Given the description of an element on the screen output the (x, y) to click on. 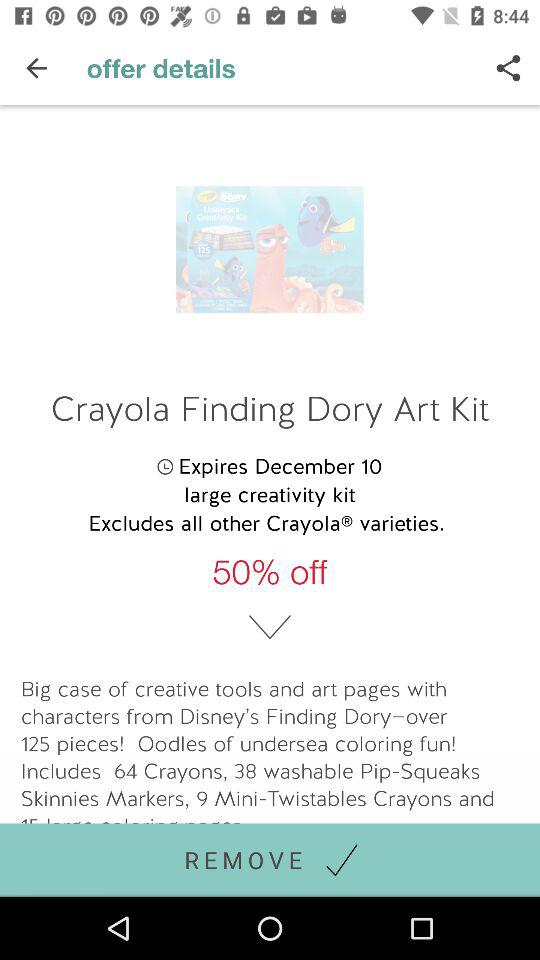
select the mail icon below the text 50 off on the web page (269, 627)
